Given the description of an element on the screen output the (x, y) to click on. 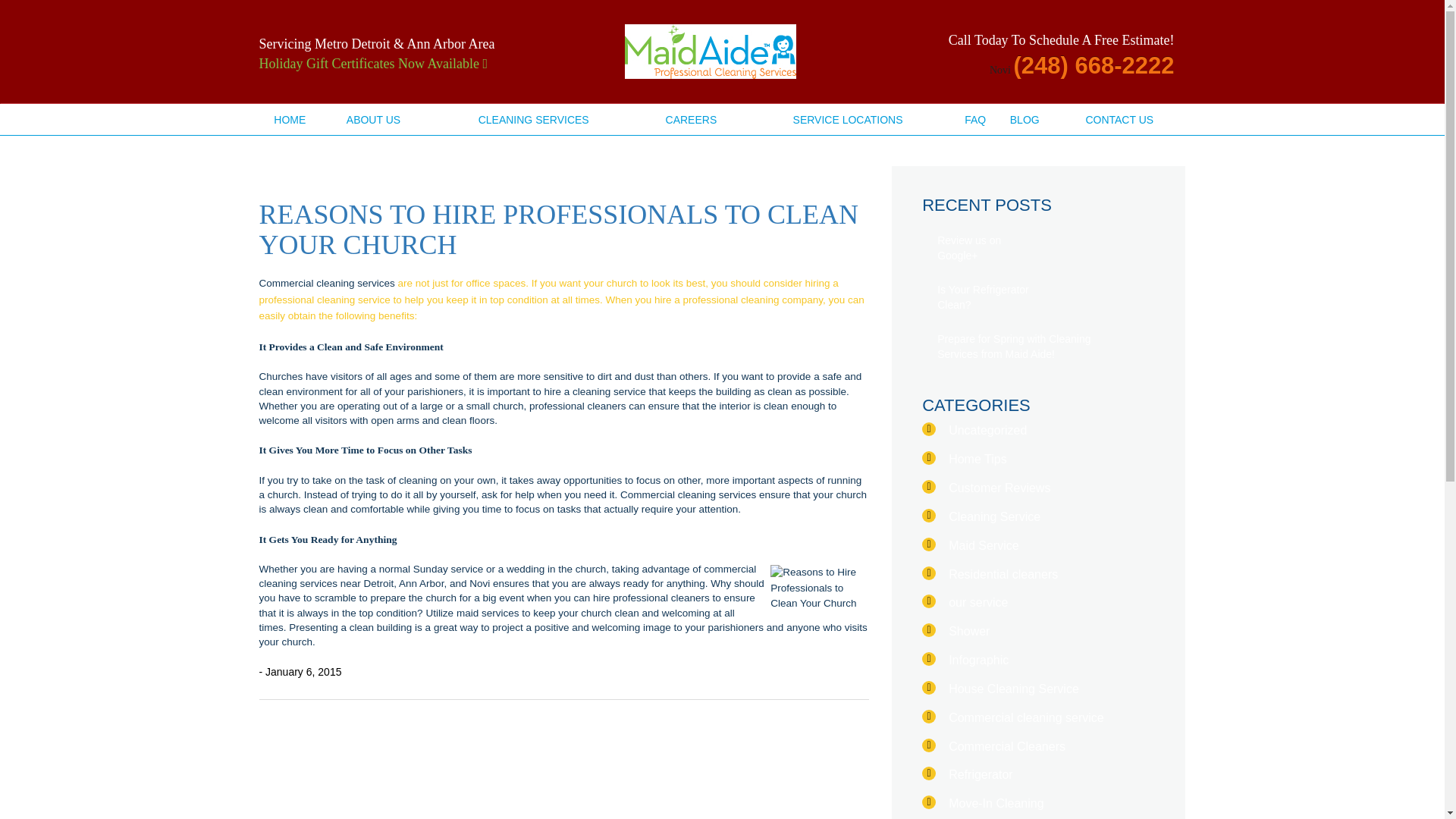
FAQ (975, 119)
Customer Reviews (999, 487)
CLEANING SERVICES (534, 119)
ABOUT US (373, 119)
Home Tips (977, 459)
Is Your Refrigerator Clean? (993, 297)
Move-In Cleaning (996, 802)
CAREERS (691, 119)
HOME (290, 119)
Residential cleaners (1003, 574)
Cleaning Service (995, 516)
Previous Post (267, 714)
our service (978, 602)
- January 6, 2015 (300, 672)
Uncategorized (987, 430)
